Given the description of an element on the screen output the (x, y) to click on. 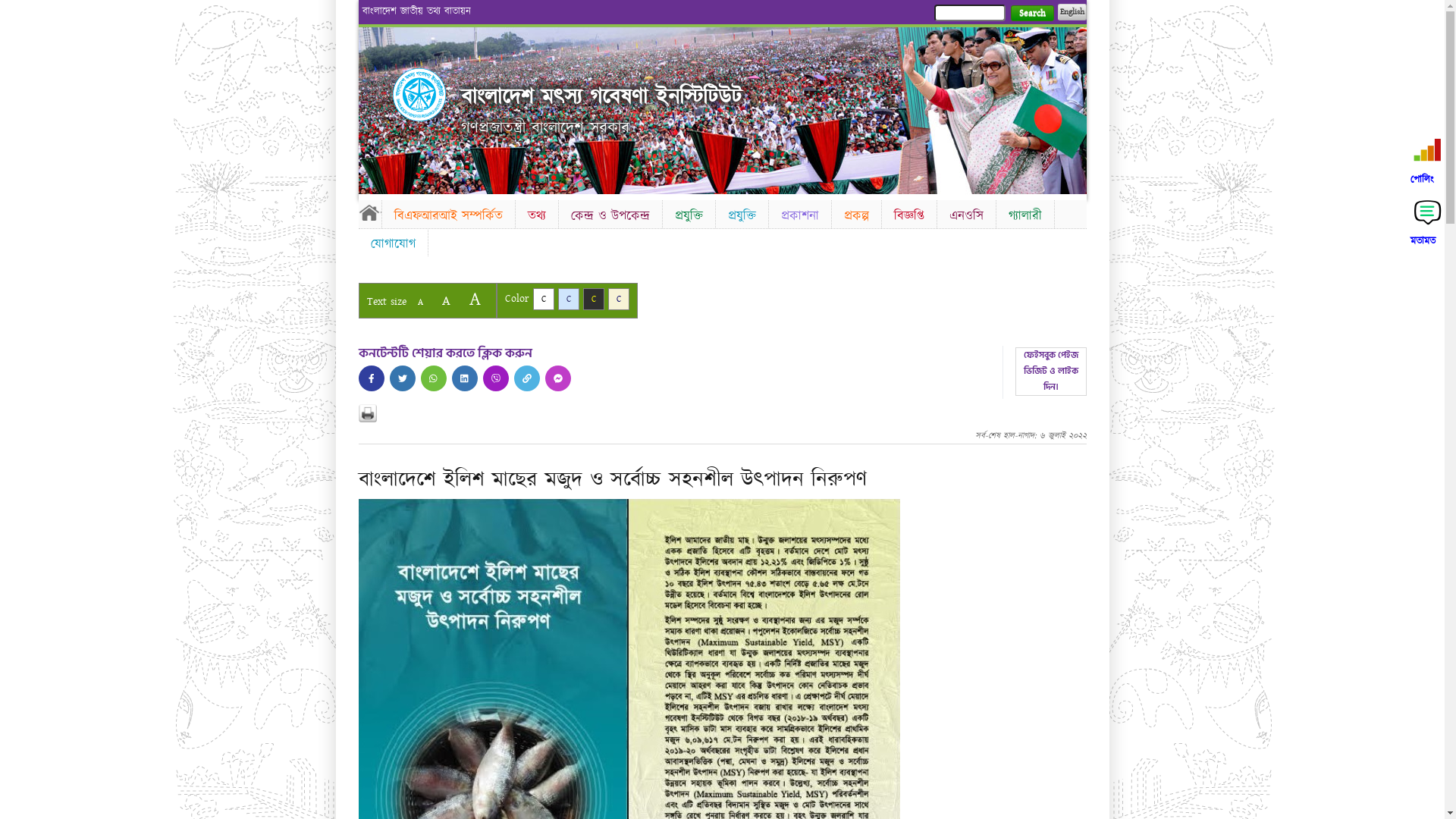
Search Element type: text (1031, 13)
C Element type: text (568, 299)
Home Element type: hover (418, 94)
C Element type: text (592, 299)
Home Element type: hover (368, 211)
C Element type: text (542, 299)
A Element type: text (445, 300)
A Element type: text (419, 301)
English Element type: text (1071, 11)
A Element type: text (474, 298)
C Element type: text (618, 299)
